Given the description of an element on the screen output the (x, y) to click on. 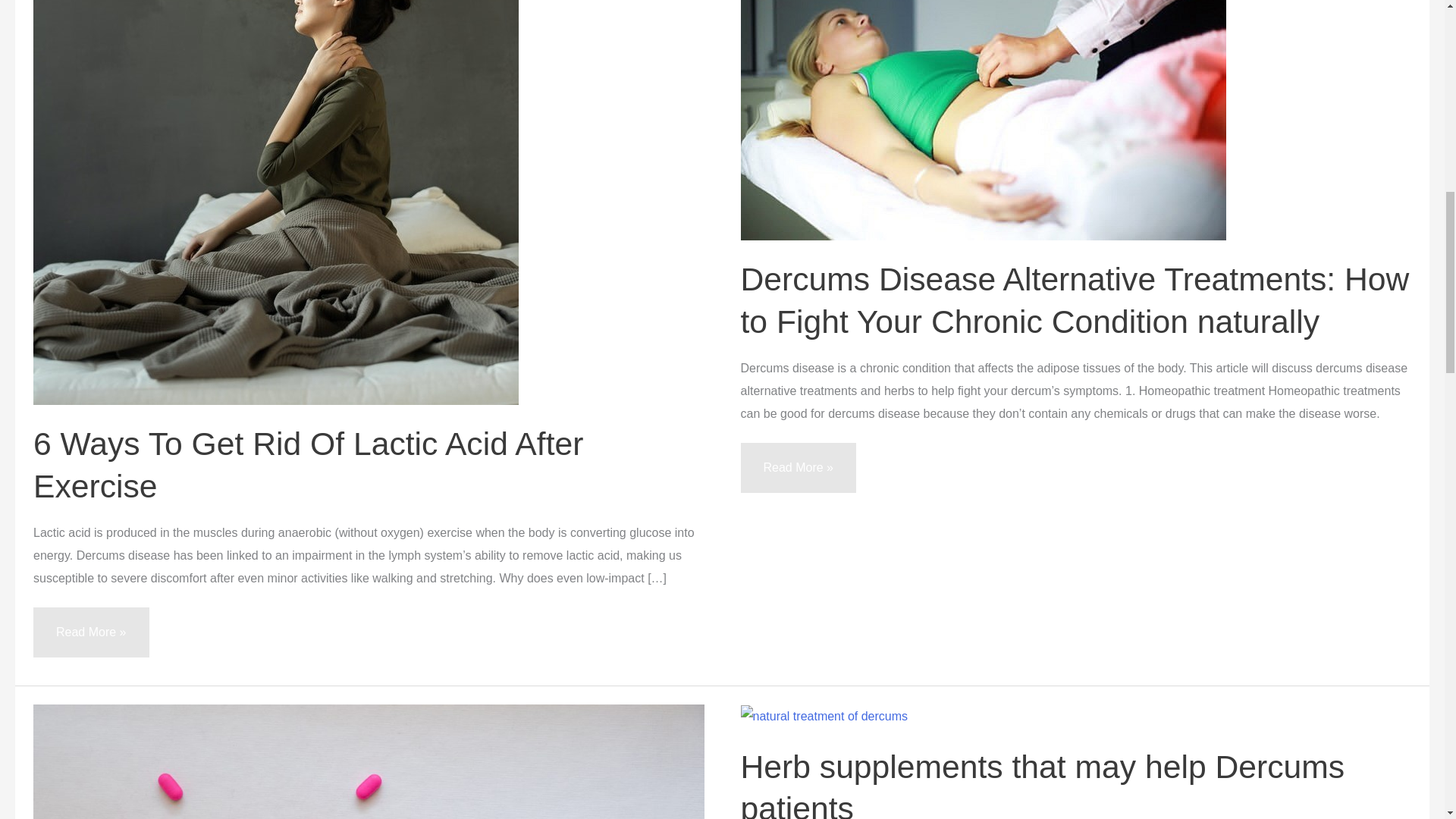
Herb supplements that may help Dercums patients (1041, 783)
6 Ways To Get Rid Of Lactic Acid After Exercise (308, 464)
